Given the description of an element on the screen output the (x, y) to click on. 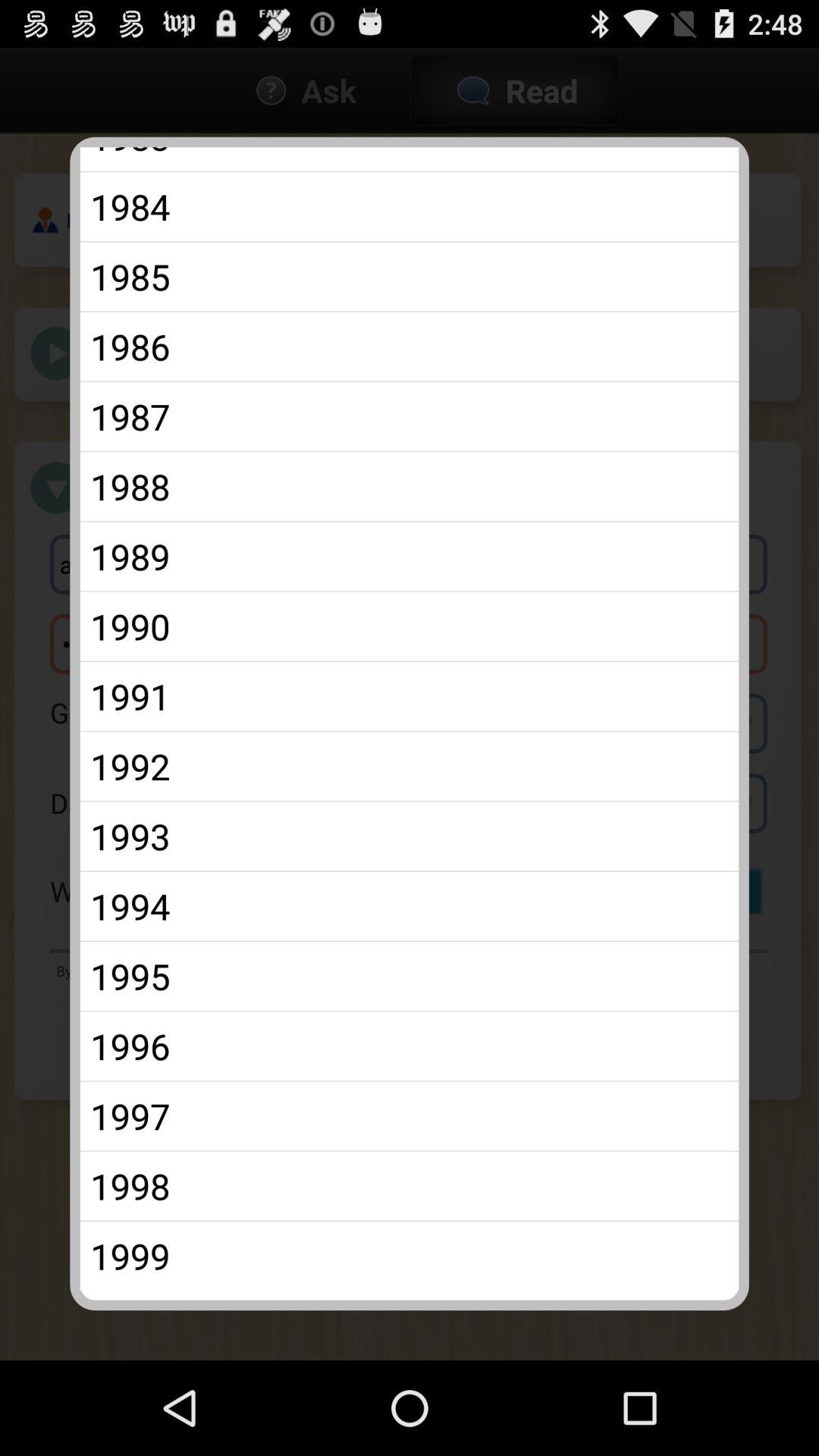
turn on item below the 1996 (409, 1115)
